Given the description of an element on the screen output the (x, y) to click on. 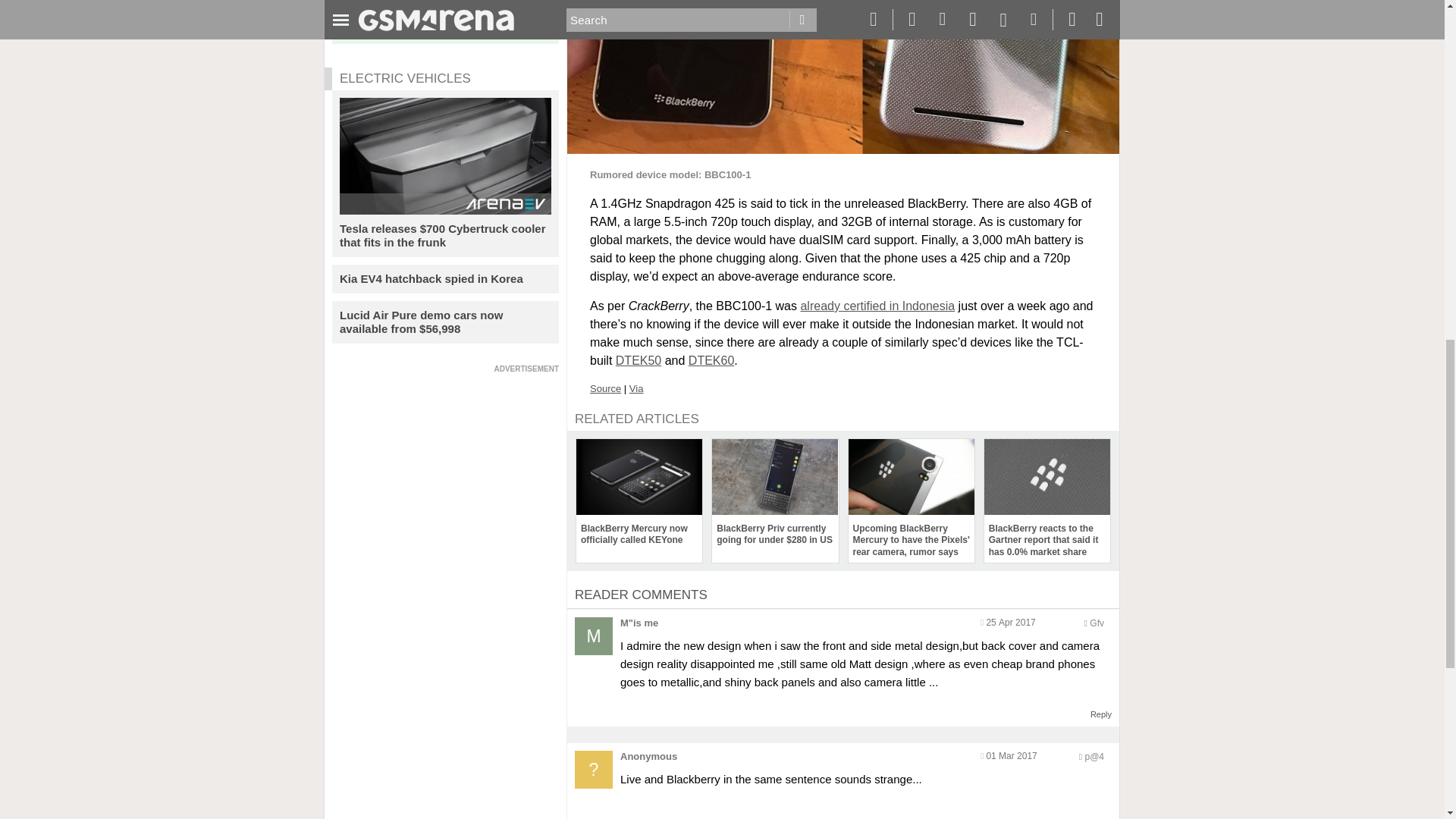
already certified in Indonesia (877, 305)
Encoded anonymized location (1093, 756)
Reply to this post (1101, 714)
Encoded anonymized location (1096, 623)
